Given the description of an element on the screen output the (x, y) to click on. 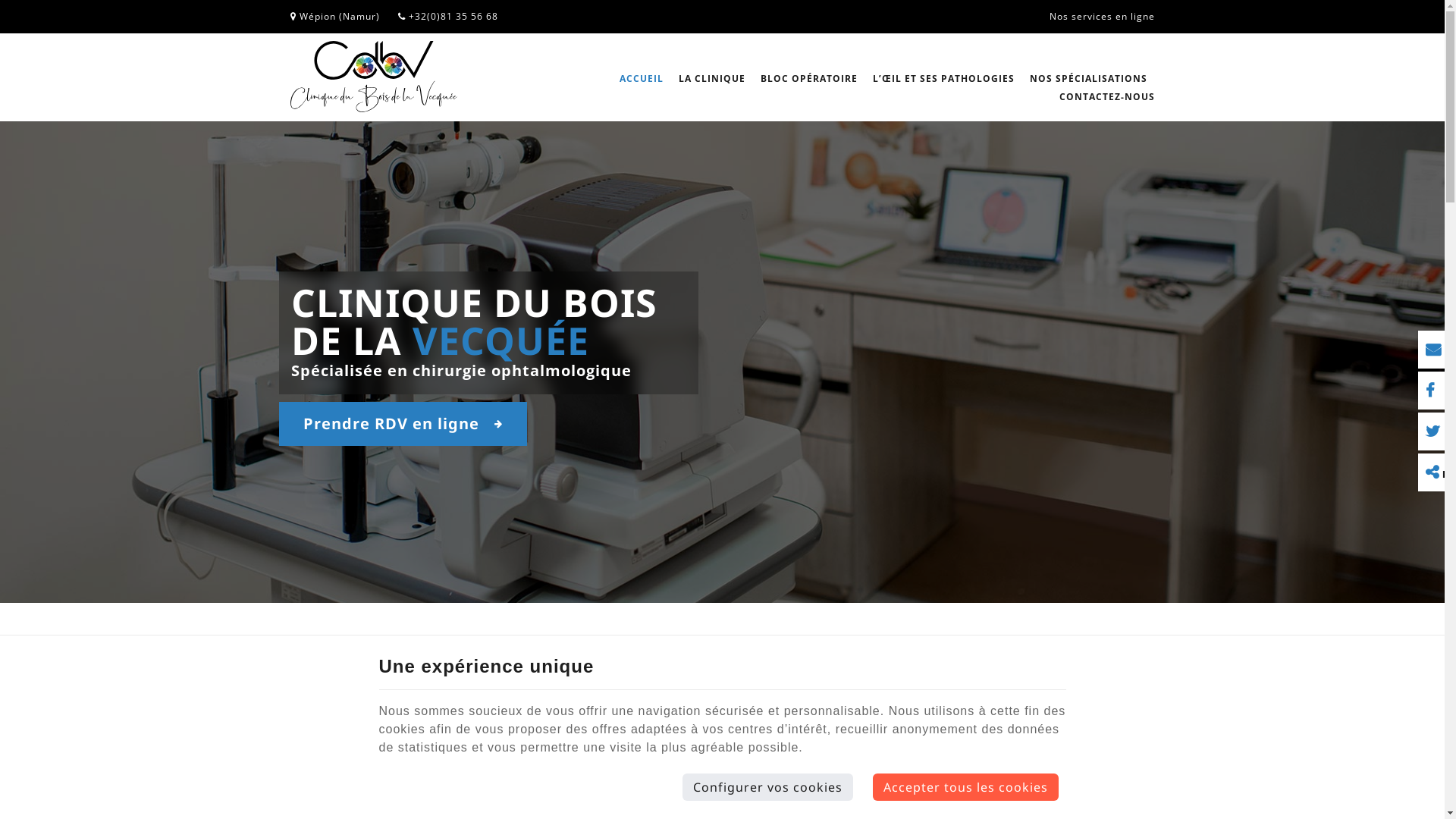
Nos services en ligne Element type: text (1101, 16)
ACCUEIL Element type: text (640, 78)
Accepter tous les cookies Element type: text (965, 786)
LA CLINIQUE Element type: text (711, 78)
+32(0)81 35 56 68 Element type: text (447, 16)
Prendre RDV en ligne Element type: text (403, 423)
Configurer vos cookies Element type: text (767, 786)
CONTACTEZ-NOUS Element type: text (1102, 96)
